Given the description of an element on the screen output the (x, y) to click on. 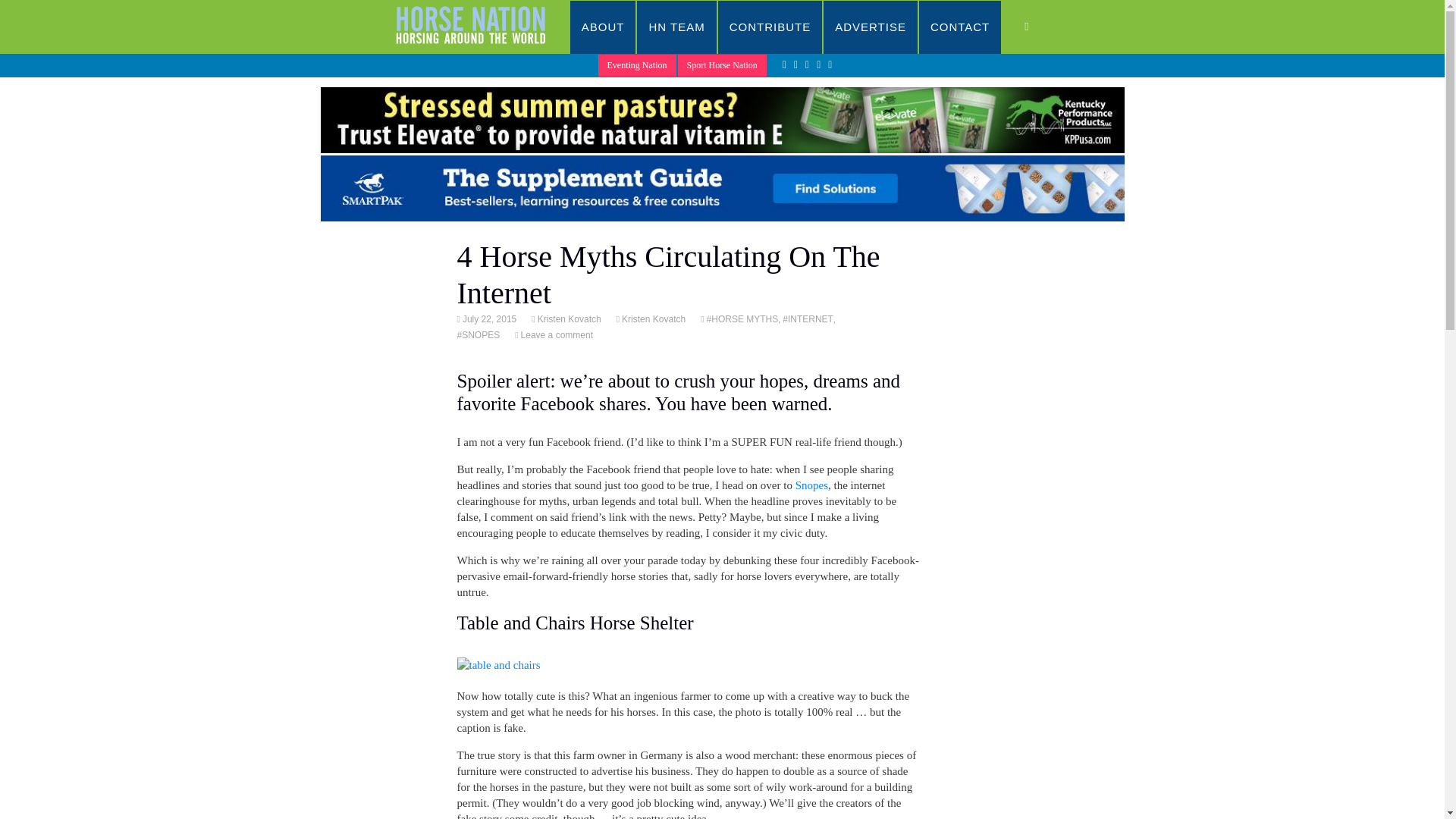
View all posts by Kristen Kovatch (568, 318)
ABOUT (603, 27)
HN TEAM (676, 27)
Kristen Kovatch (568, 318)
SEARCH (1041, 27)
Permalink to 4 Horse Myths Circulating On The Internet (488, 318)
Sport Horse Nation (722, 65)
CONTACT (959, 27)
July 22, 2015 (488, 318)
Kristen Kovatch (652, 318)
